Given the description of an element on the screen output the (x, y) to click on. 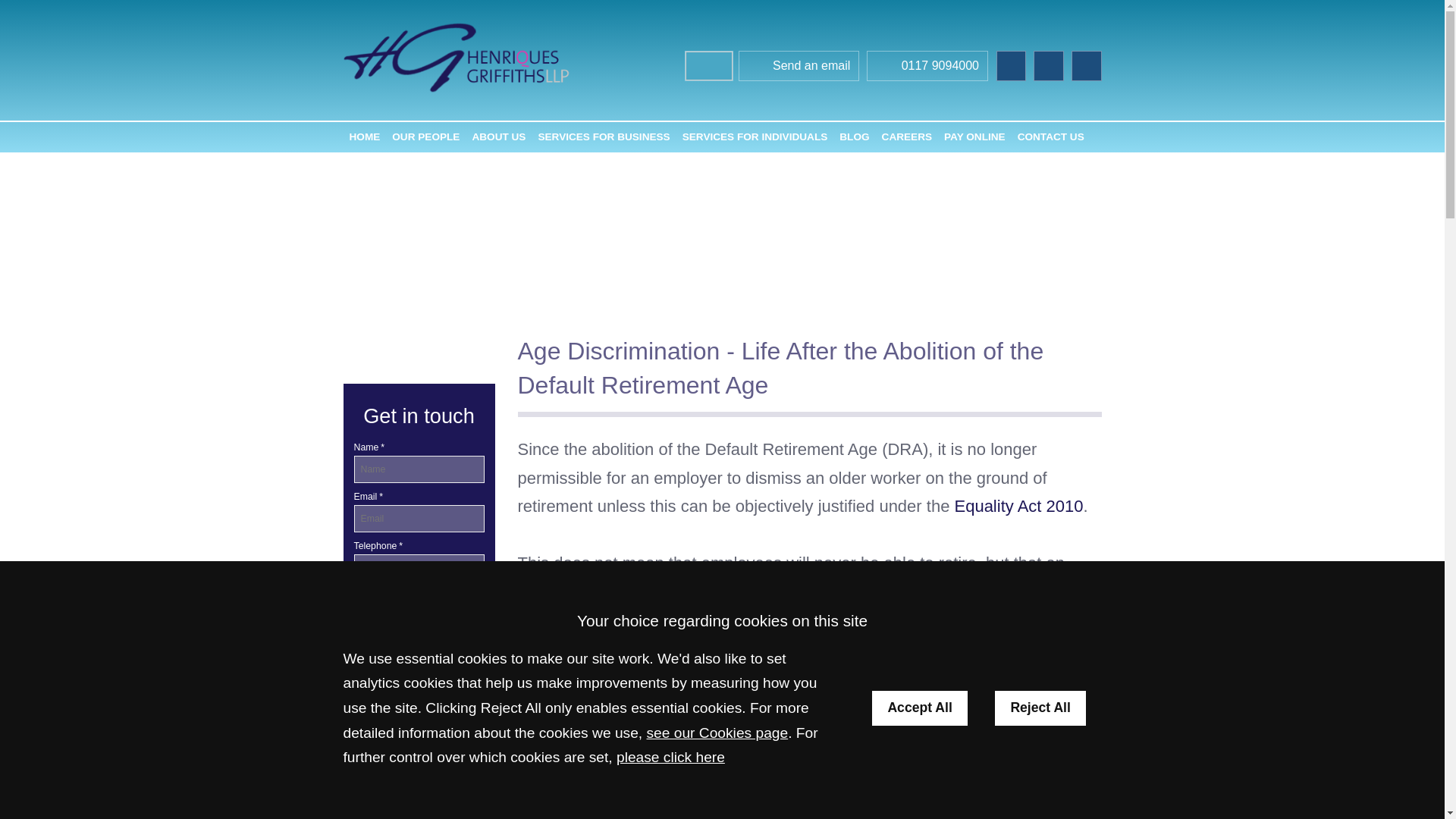
0117 9094000 (927, 67)
Send an email (799, 67)
SERVICES FOR INDIVIDUALS (755, 137)
PAY ONLINE (974, 137)
IP and IT (418, 794)
Equality Act 2010 (1018, 505)
Commercial Client (396, 693)
OUR PEOPLE (425, 137)
Send question (419, 615)
BLOG (853, 137)
